Given the description of an element on the screen output the (x, y) to click on. 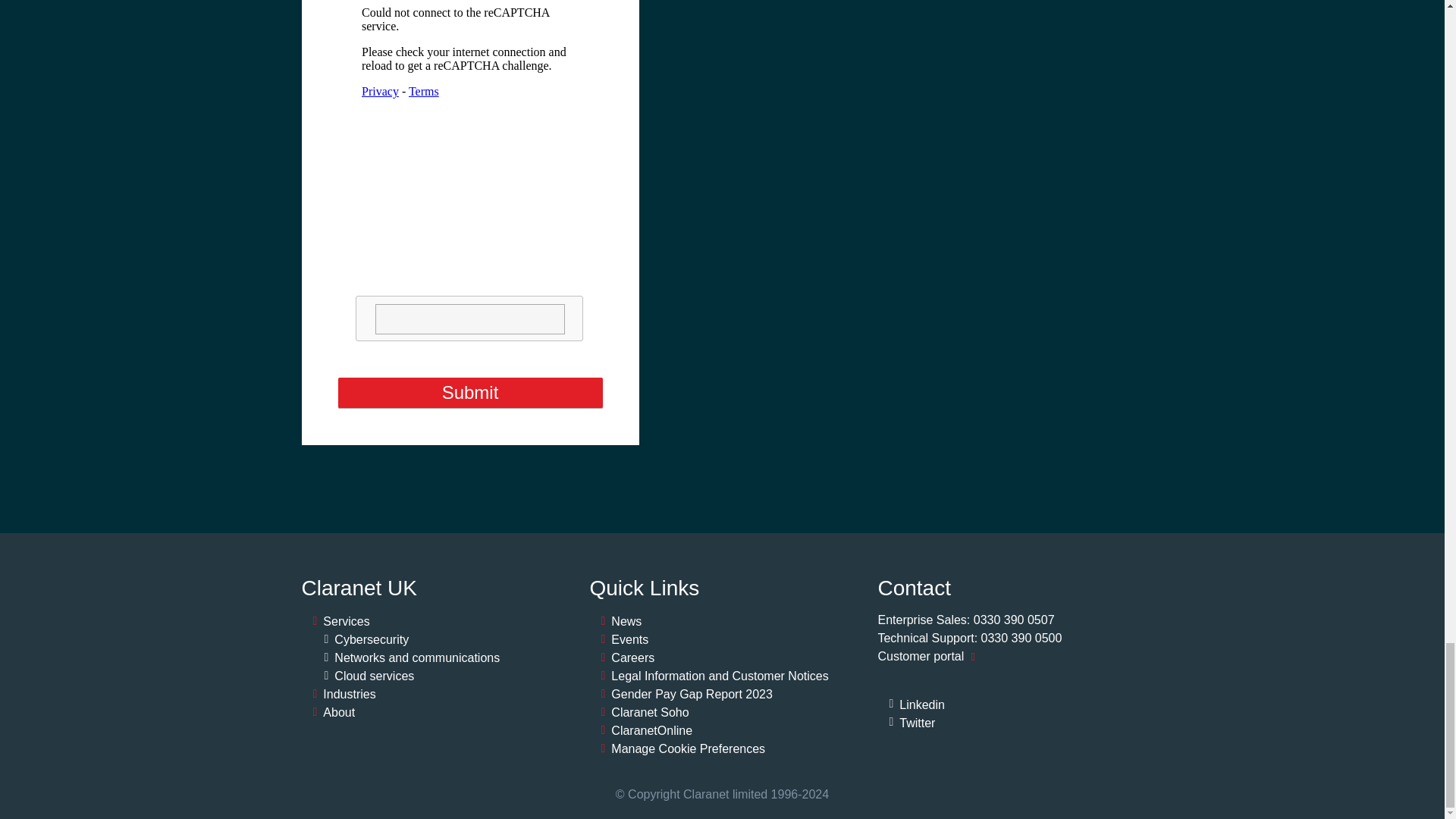
Submit (469, 392)
